Given the description of an element on the screen output the (x, y) to click on. 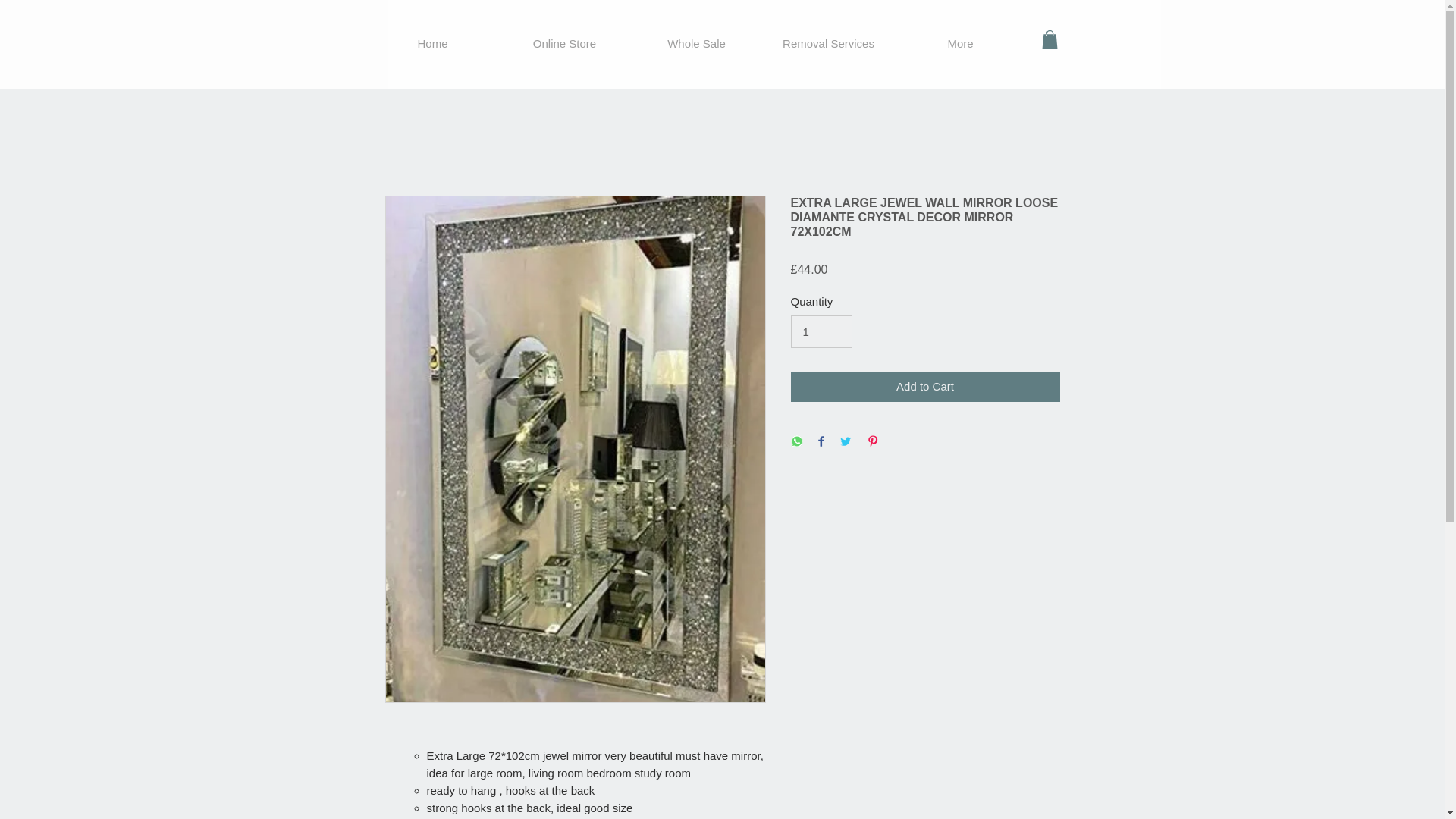
Online Store (564, 43)
1 (820, 331)
Removal Services (828, 43)
Add to Cart (924, 387)
Whole Sale (696, 43)
Home (432, 43)
